Given the description of an element on the screen output the (x, y) to click on. 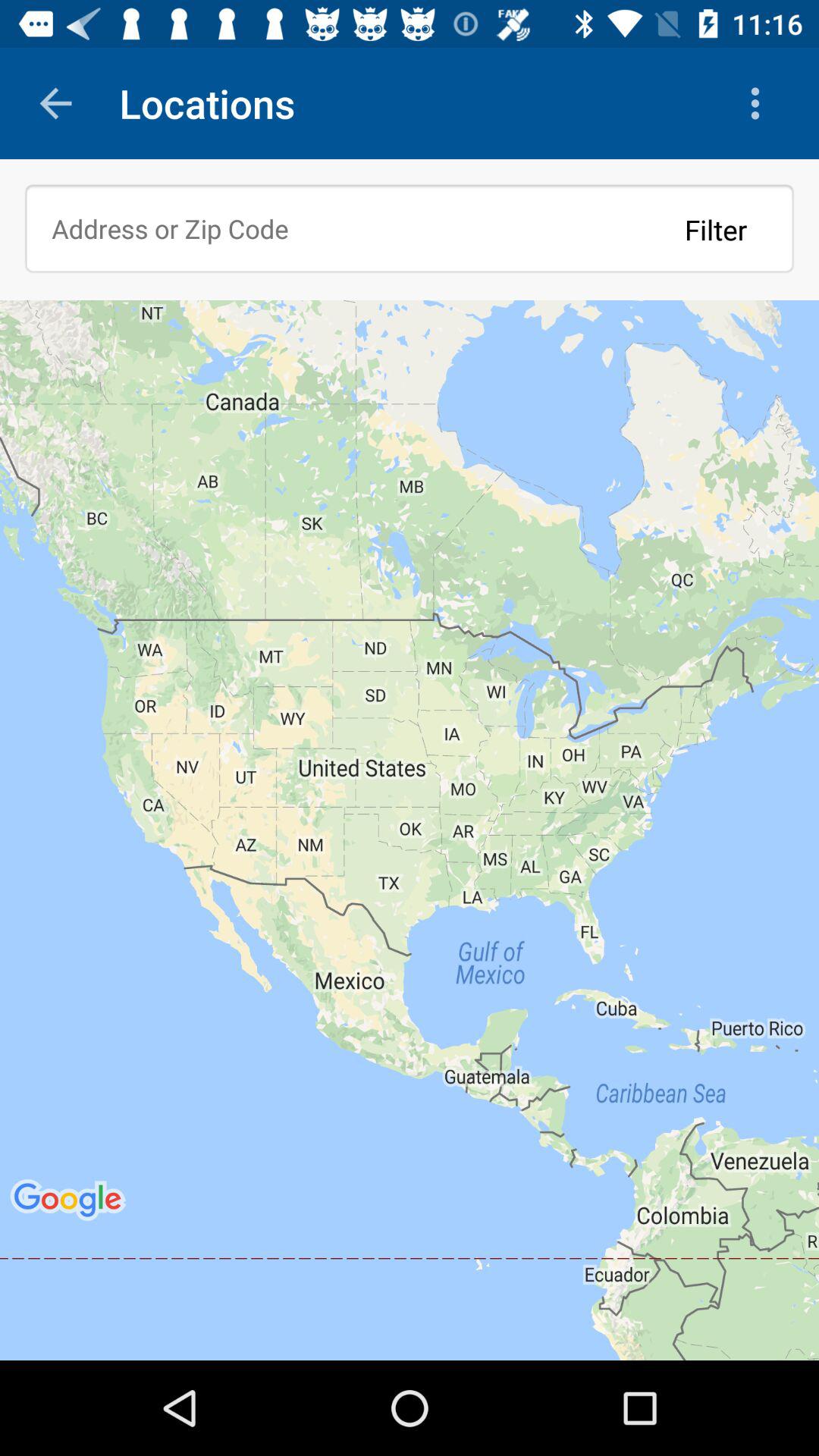
press app to the right of the locations icon (759, 103)
